Given the description of an element on the screen output the (x, y) to click on. 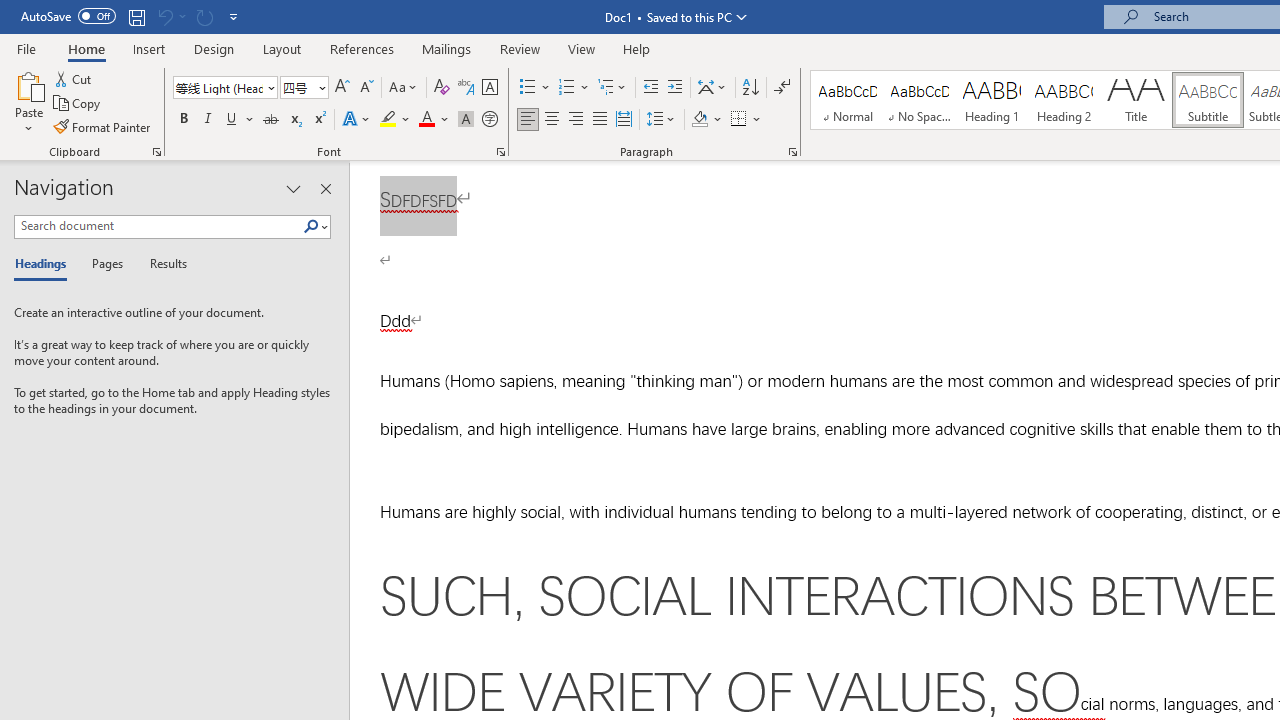
Heading 2 (1063, 100)
